Given the description of an element on the screen output the (x, y) to click on. 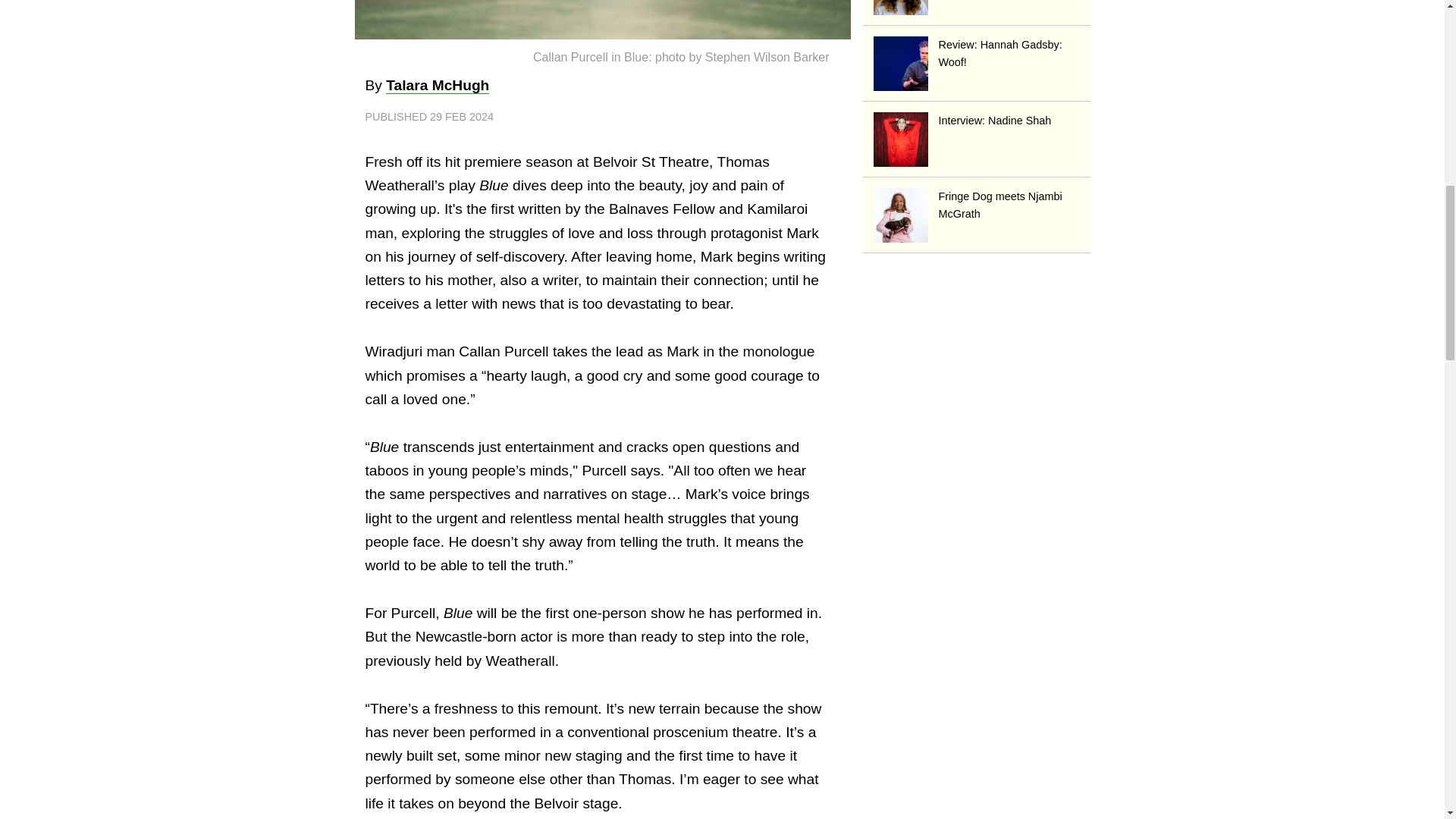
Interview: Nadine Shah (976, 120)
Review: Hannah Gadsby: Woof! (976, 53)
Fringe Dog meets Njambi McGrath (976, 205)
